Given the description of an element on the screen output the (x, y) to click on. 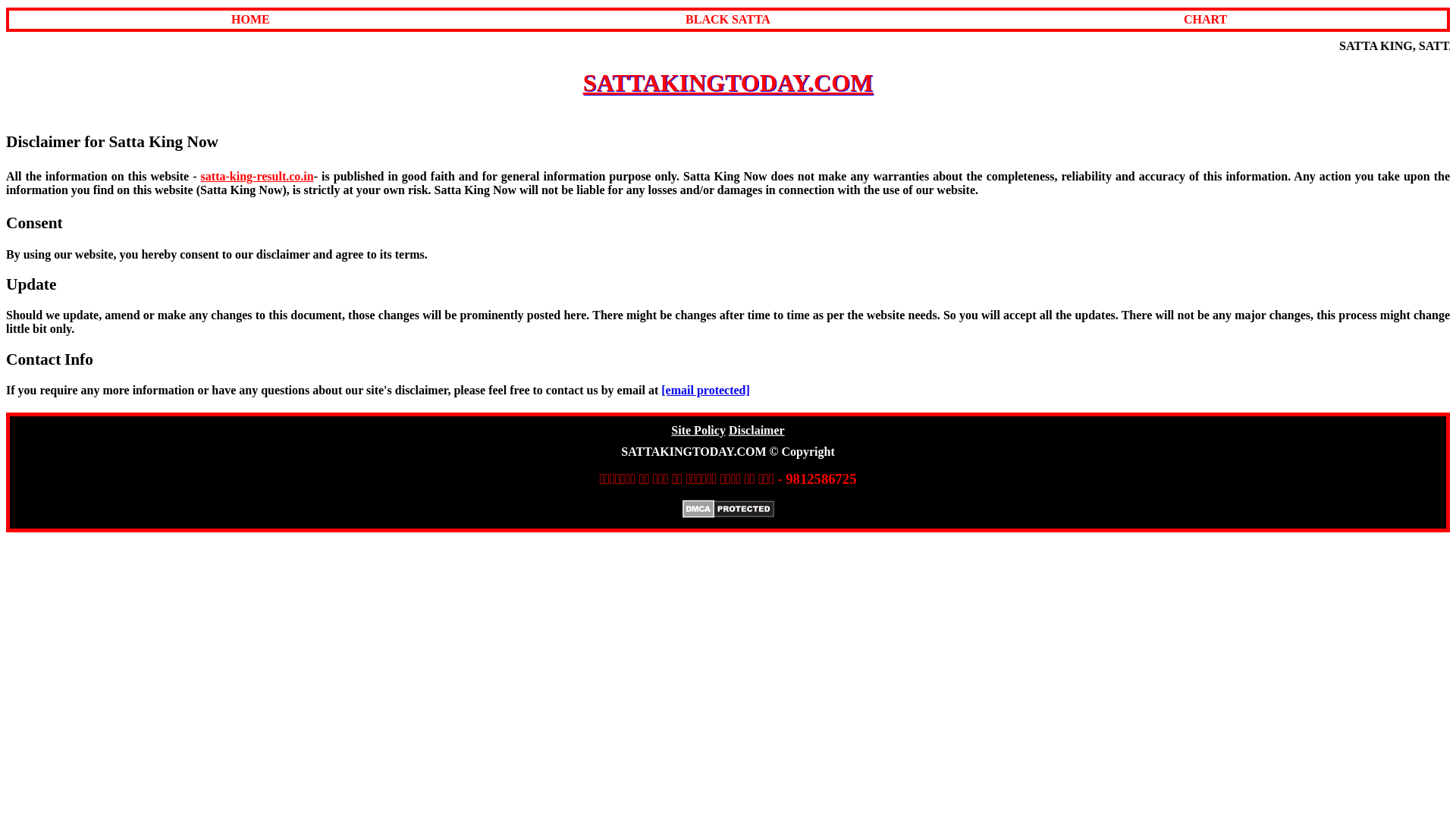
CHART (1205, 19)
Disclaimer (756, 430)
satta-king-result.co.in (257, 175)
Site Policy (698, 430)
SATTAKINGTODAY.COM (728, 82)
DMCA.com Protection Status (728, 513)
HOME (250, 19)
BLACK SATTA (727, 19)
